Given the description of an element on the screen output the (x, y) to click on. 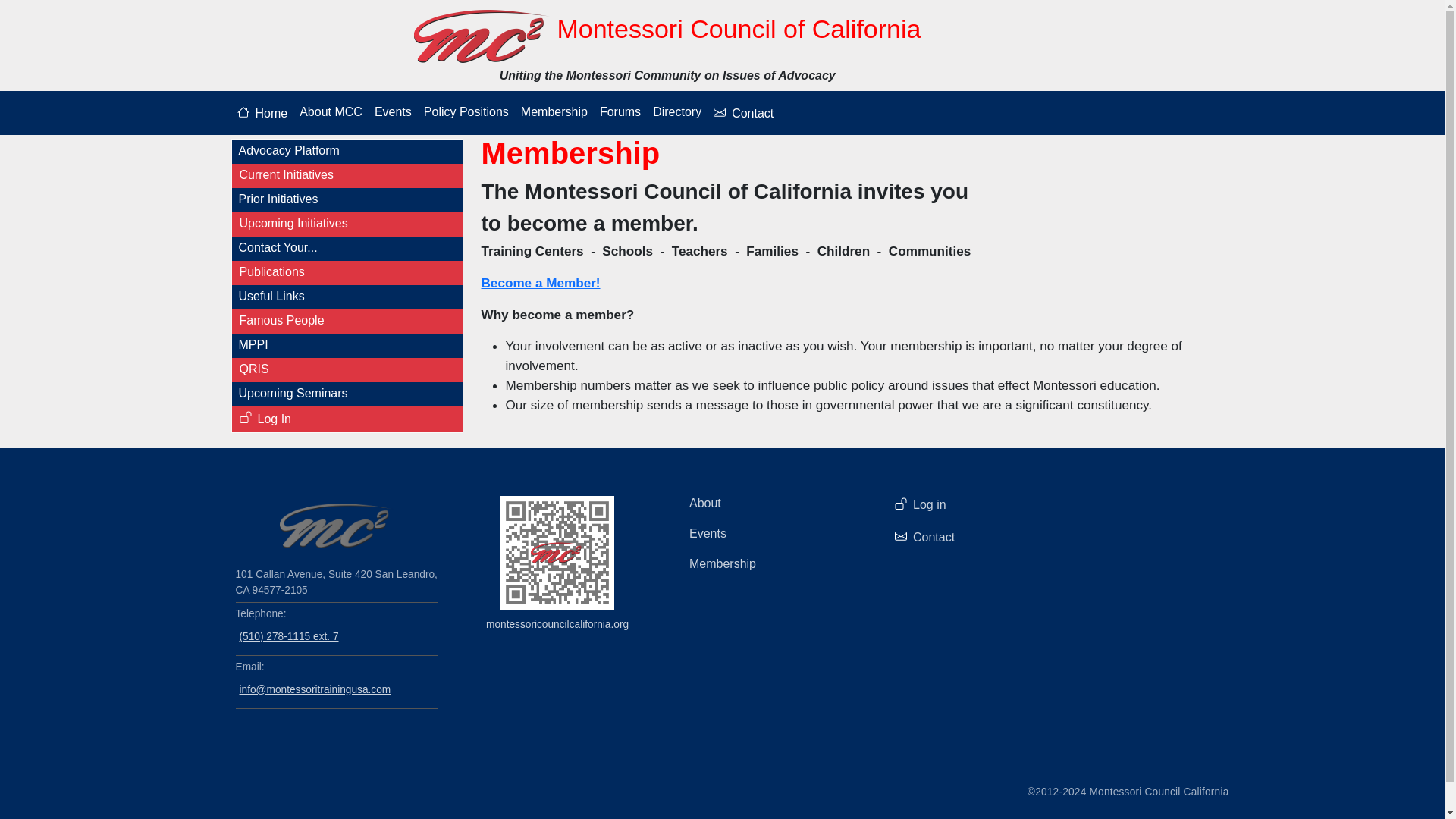
Useful Links (346, 296)
Contact (742, 112)
Log In (347, 418)
Upcoming Seminars (346, 393)
QRIS (347, 368)
Upcoming Initiatives (347, 223)
Events (392, 112)
Contact Your... (346, 247)
About (774, 503)
Events (774, 533)
Montessori Council of California (666, 35)
Policy Positions (466, 112)
Become a Member! (539, 282)
Prior Initiatives (346, 199)
Quality Rating and Improvement Systems (347, 368)
